Given the description of an element on the screen output the (x, y) to click on. 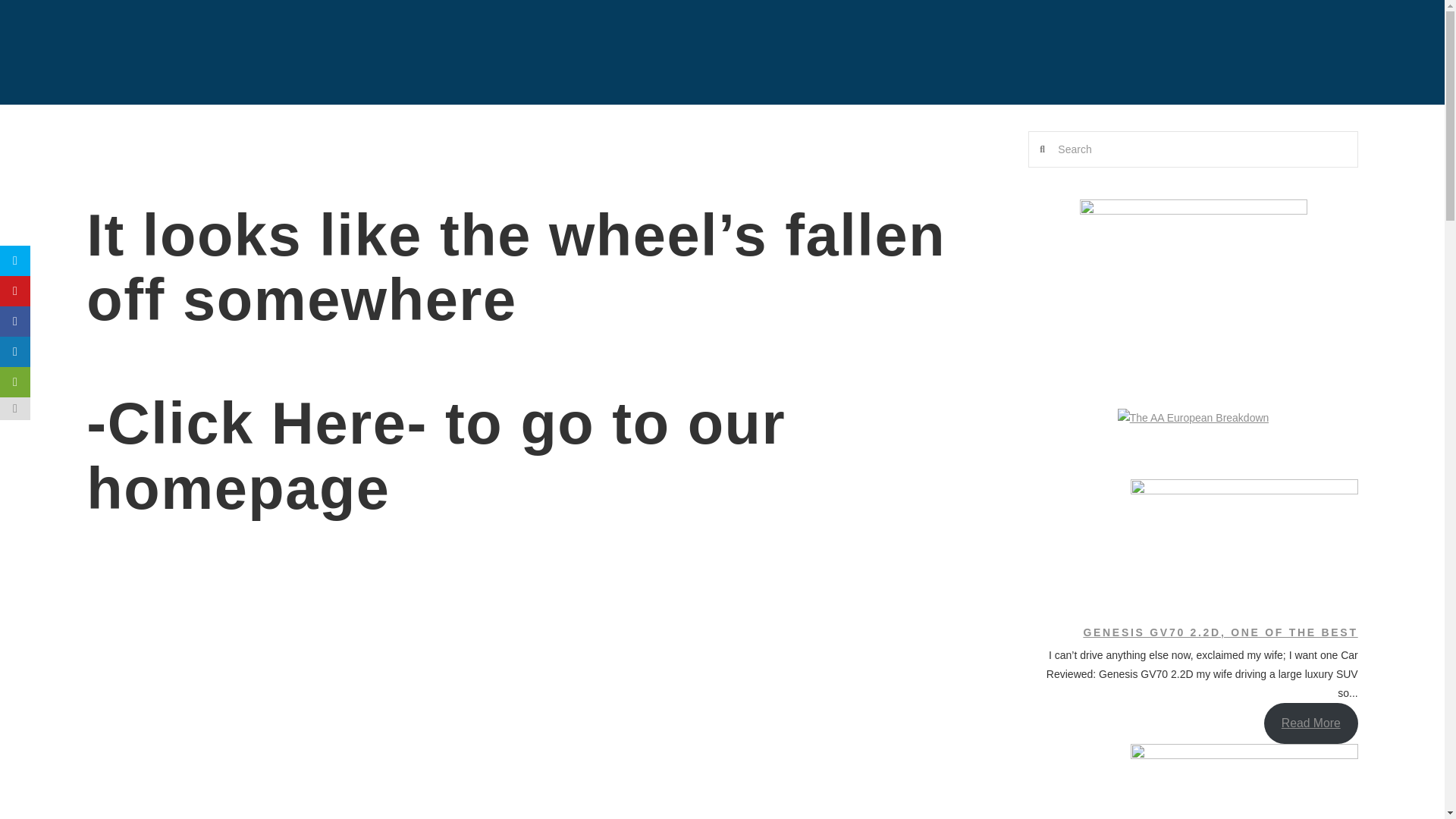
Read More (1310, 722)
GENESIS GV70 2.2D, ONE OF THE BEST (1219, 632)
-Click Here- (256, 422)
